Given the description of an element on the screen output the (x, y) to click on. 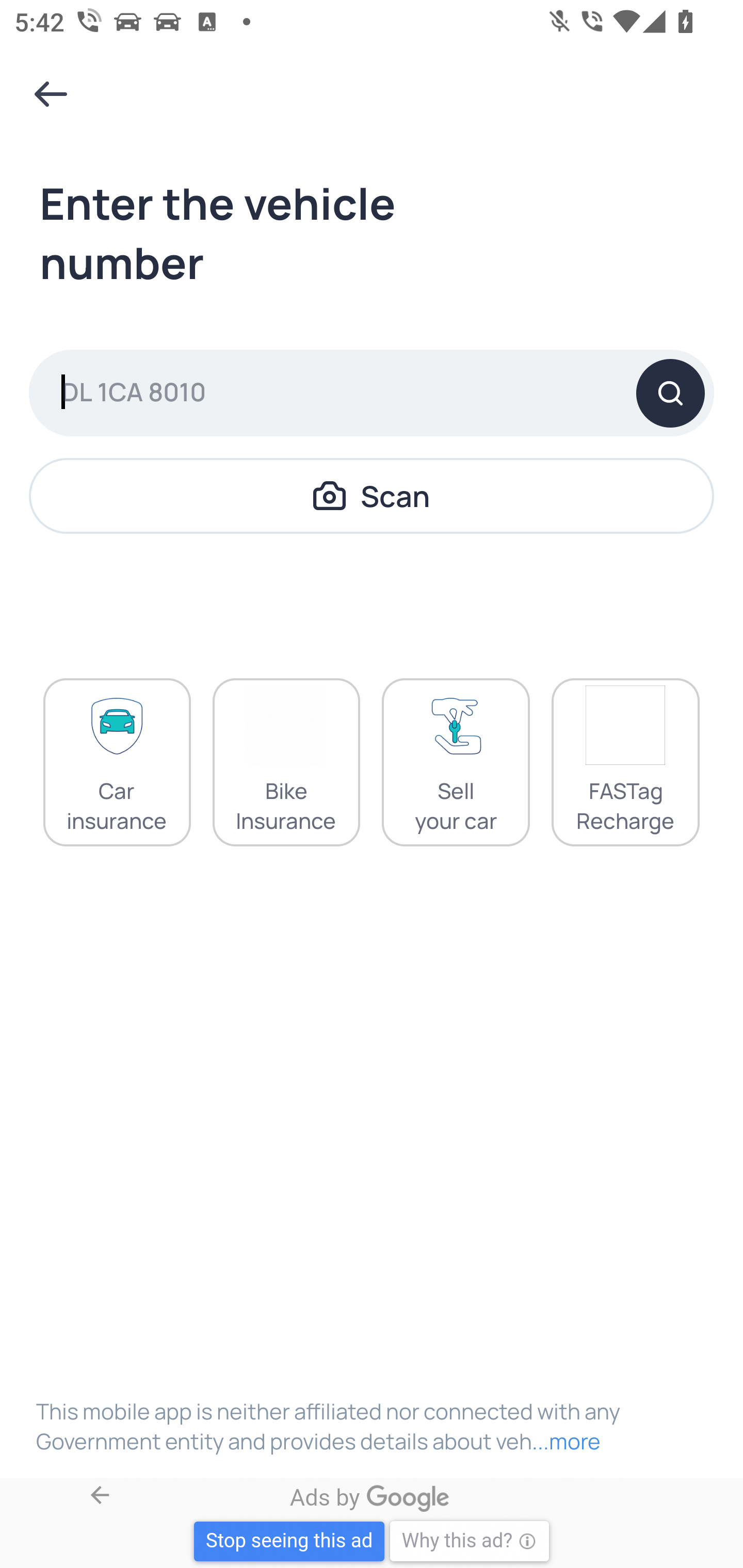
Navigate up (50, 93)
DL 1CA 8010 (371, 392)
Scan (371, 495)
Car
insurance (116, 762)
Bike
Insurance (286, 762)
Sell
your car (455, 762)
FASTag Recharge (625, 762)
